Given the description of an element on the screen output the (x, y) to click on. 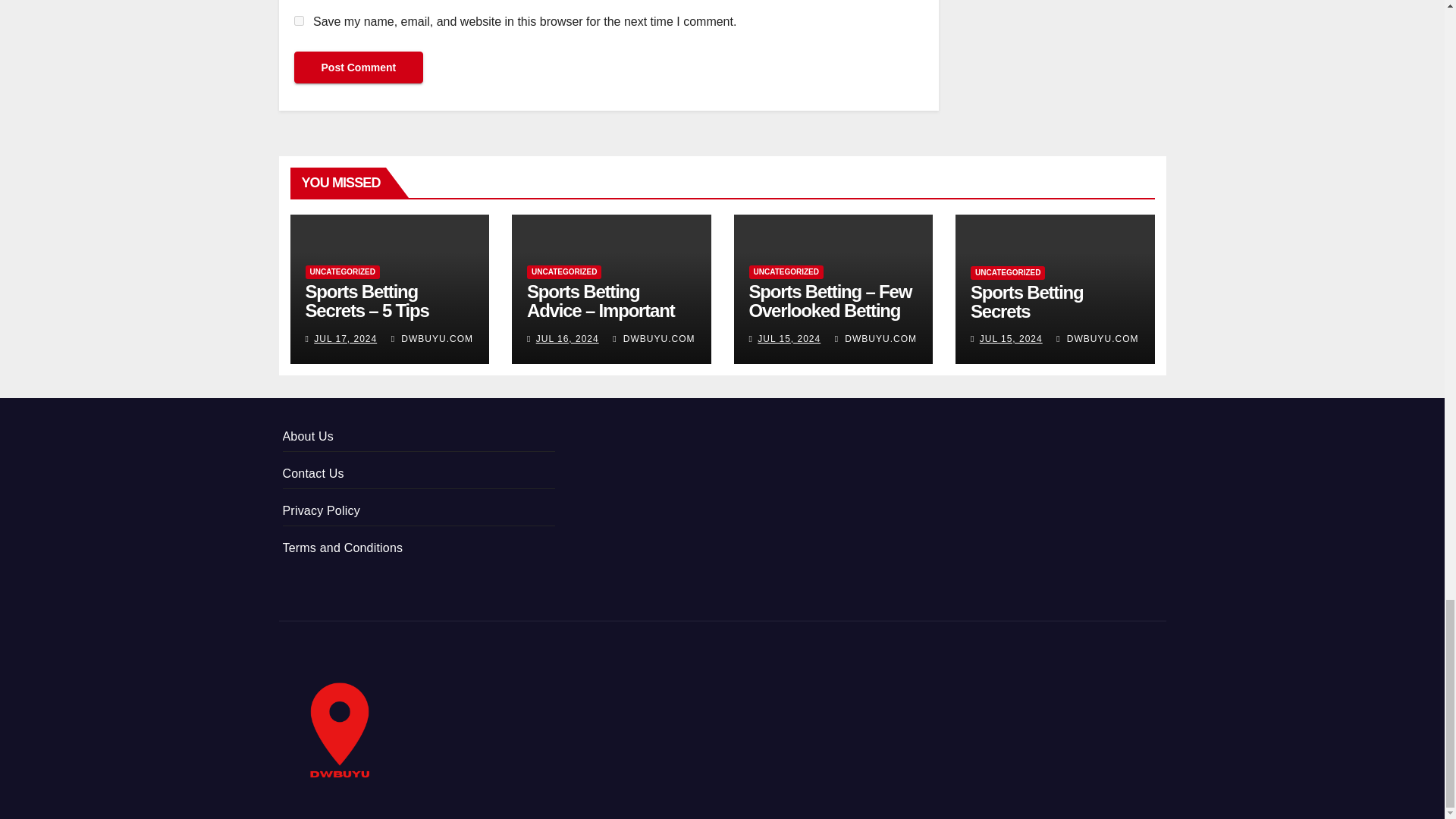
yes (299, 20)
Post Comment (358, 67)
